Given the description of an element on the screen output the (x, y) to click on. 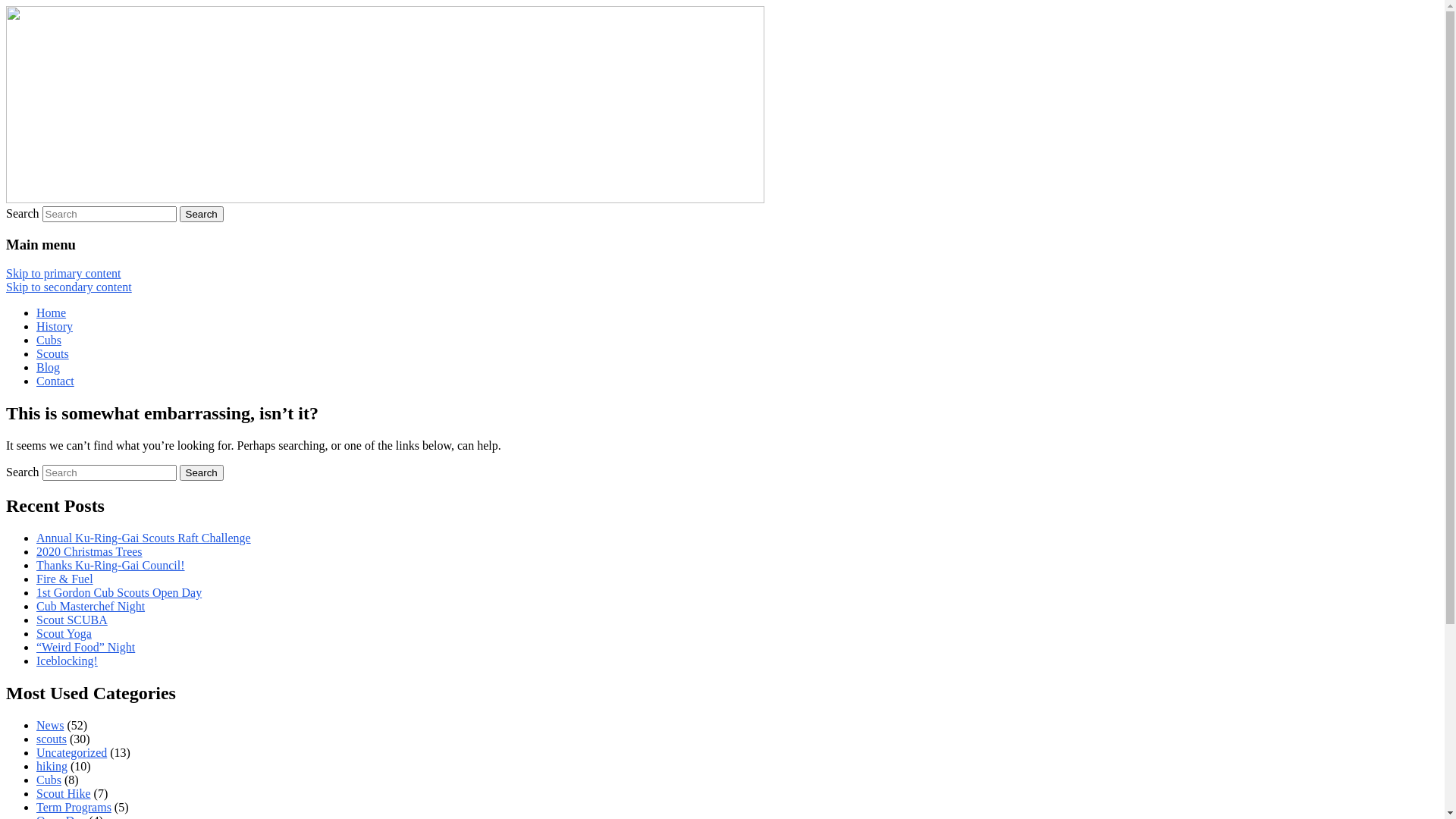
hiking Element type: text (51, 765)
Uncategorized Element type: text (71, 752)
Annual Ku-Ring-Gai Scouts Raft Challenge Element type: text (143, 537)
Thanks Ku-Ring-Gai Council! Element type: text (110, 564)
Term Programs Element type: text (73, 806)
Search Element type: text (201, 214)
Blog Element type: text (47, 366)
News Element type: text (49, 724)
1st Gordon Cub Scouts Open Day Element type: text (118, 592)
Contact Element type: text (55, 380)
Skip to secondary content Element type: text (68, 286)
Iceblocking! Element type: text (66, 660)
2020 Christmas Trees Element type: text (89, 551)
Cub Masterchef Night Element type: text (90, 605)
Scout SCUBA Element type: text (71, 619)
scouts Element type: text (51, 738)
Skip to primary content Element type: text (63, 272)
Cubs Element type: text (48, 779)
Scouts Element type: text (52, 353)
History Element type: text (54, 326)
Scout Yoga Element type: text (63, 633)
Fire & Fuel Element type: text (64, 578)
Scout Hike Element type: text (63, 793)
Home Element type: text (50, 312)
Cubs Element type: text (48, 339)
Search Element type: text (201, 472)
